Given the description of an element on the screen output the (x, y) to click on. 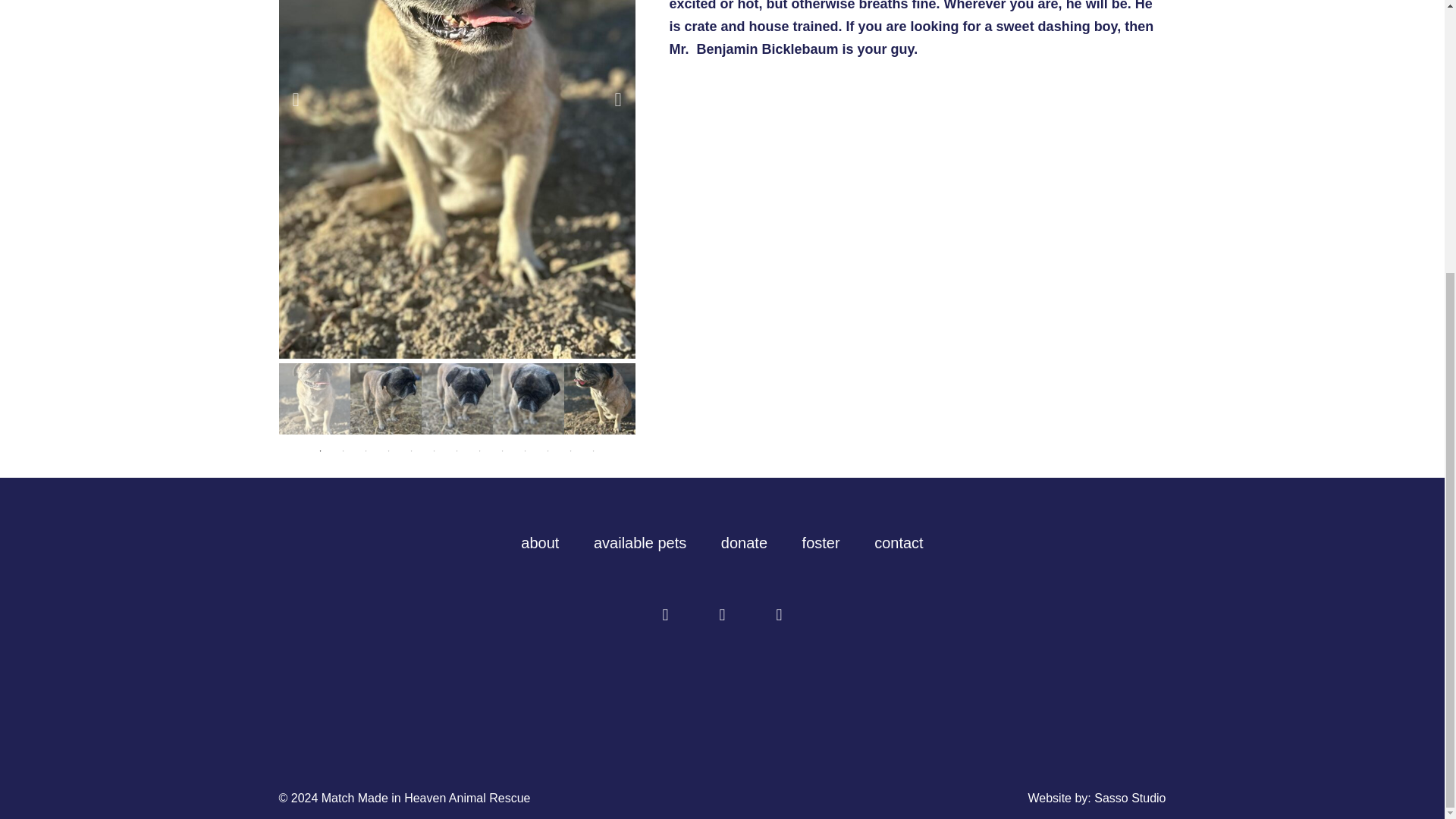
Next (617, 99)
available pets (639, 542)
5 (411, 450)
7 (456, 450)
2 (342, 450)
11 (547, 450)
Previous (295, 99)
9 (502, 450)
10 (524, 450)
3 (365, 450)
6 (433, 450)
1 (320, 450)
4 (388, 450)
about (540, 542)
12 (570, 450)
